Given the description of an element on the screen output the (x, y) to click on. 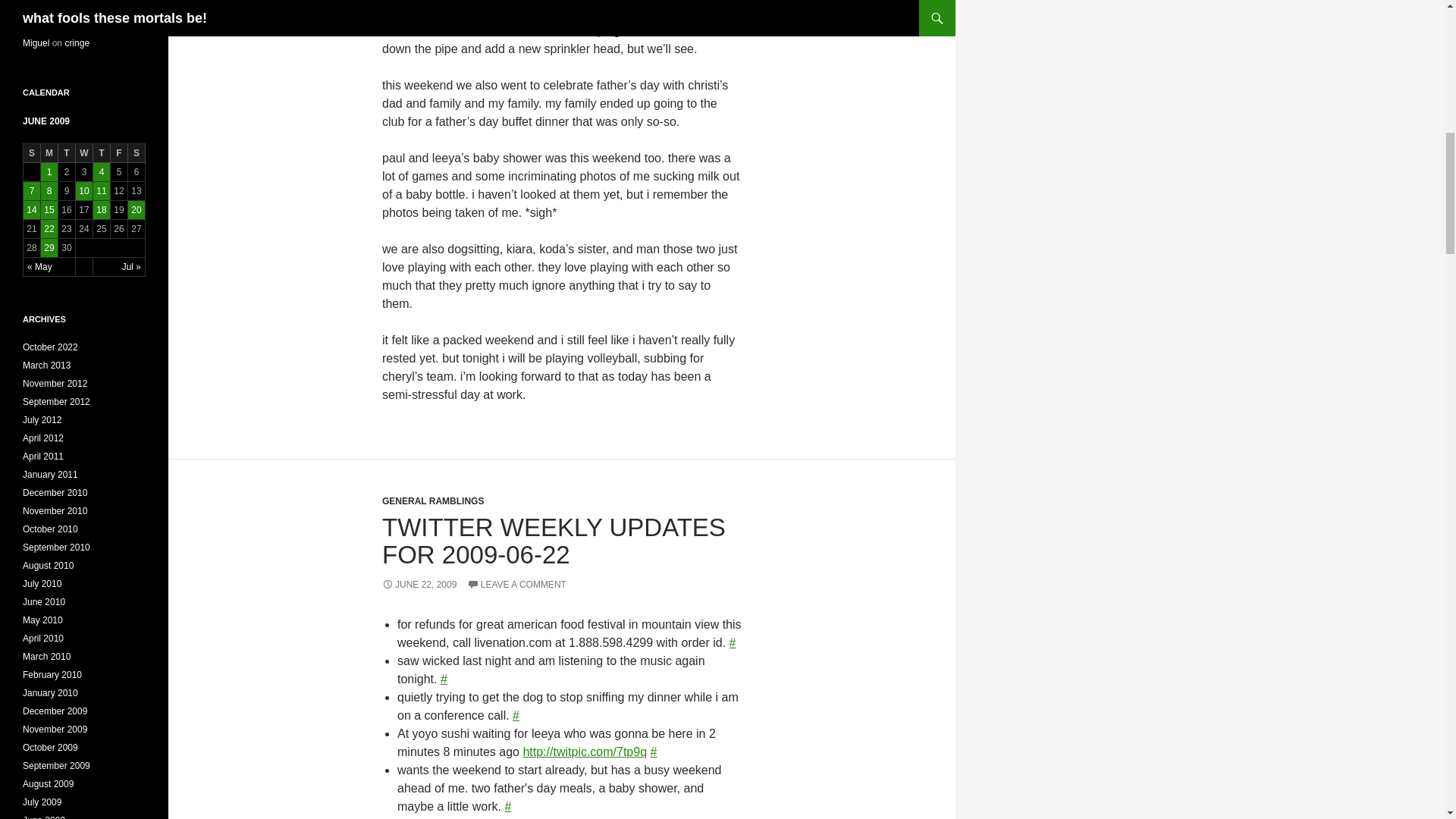
JUNE 22, 2009 (419, 584)
Friday (119, 153)
Sunday (31, 153)
LEAVE A COMMENT (516, 584)
Wednesday (84, 153)
TWITTER WEEKLY UPDATES FOR 2009-06-22 (553, 540)
Thursday (101, 153)
Monday (49, 153)
GENERAL RAMBLINGS (432, 501)
Tuesday (66, 153)
